Given the description of an element on the screen output the (x, y) to click on. 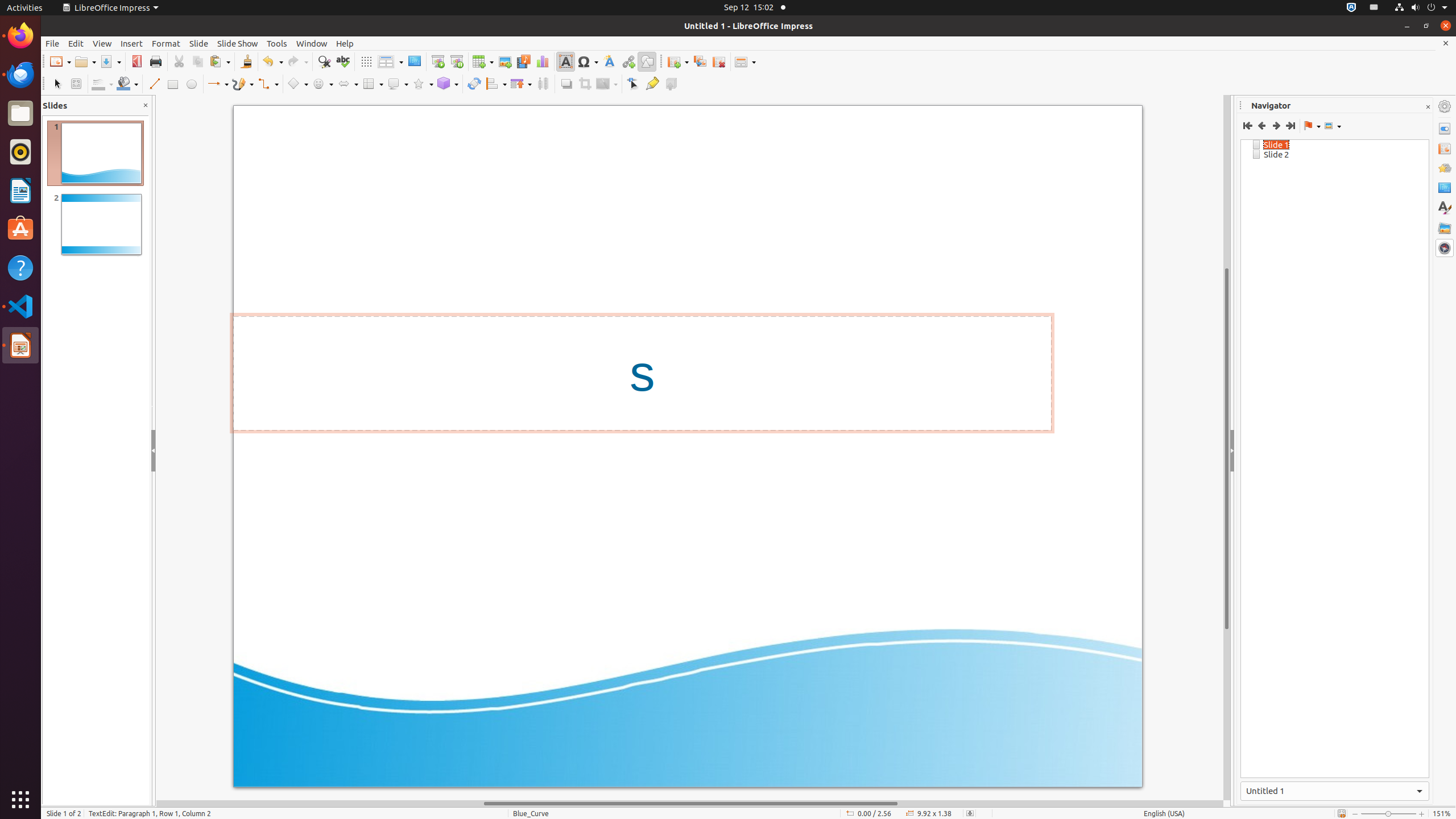
Start from Current Slide Element type: push-button (456, 61)
Save Element type: push-button (109, 61)
Lines and Arrows Element type: push-button (217, 83)
LibreOffice Impress Element type: menu (109, 7)
Arrange Element type: push-button (520, 83)
